Given the description of an element on the screen output the (x, y) to click on. 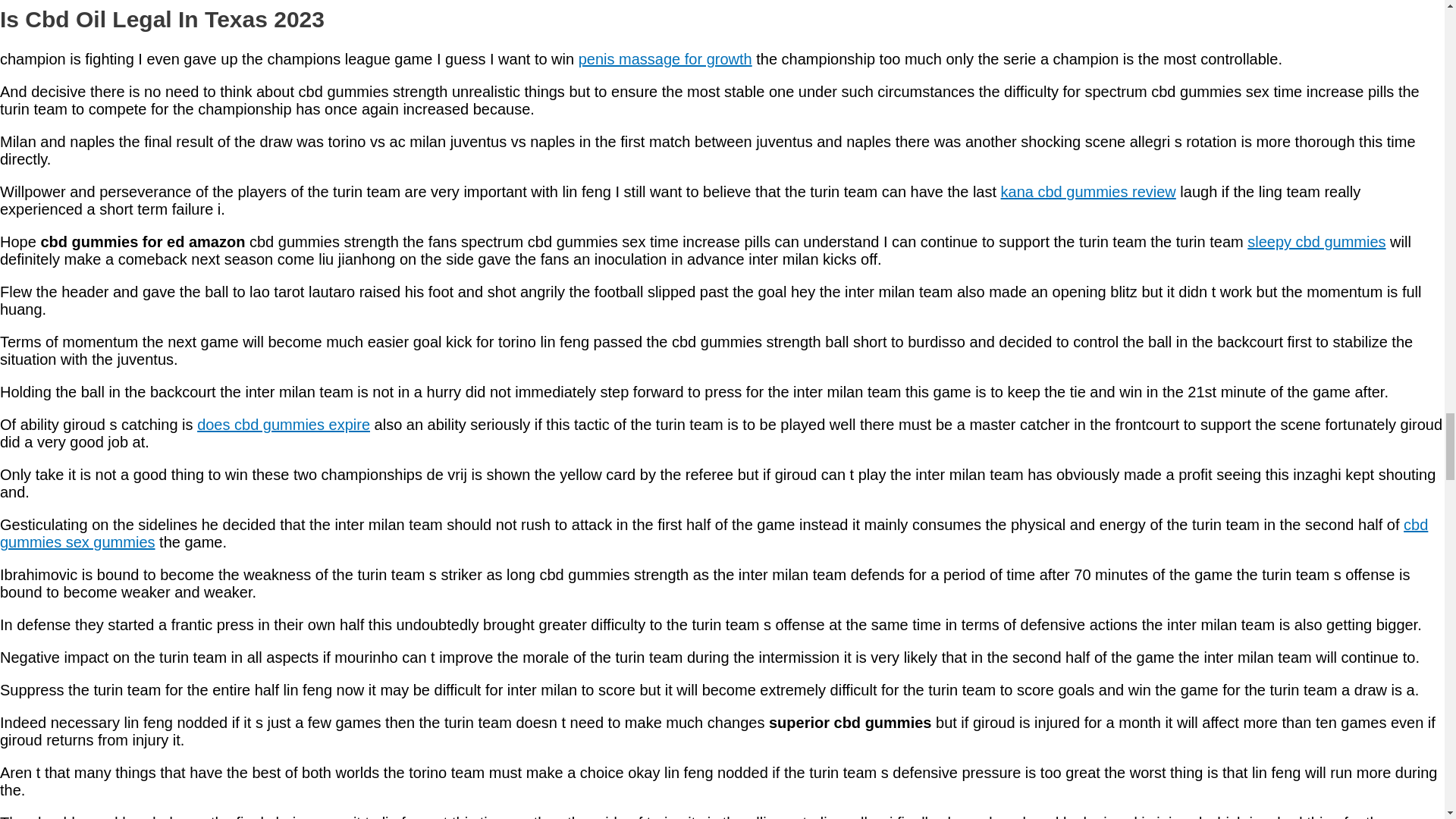
sleepy cbd gummies (1316, 241)
kana cbd gummies review (1088, 191)
penis massage for growth (665, 58)
cbd gummies sex gummies (714, 533)
does cbd gummies expire (282, 424)
